Given the description of an element on the screen output the (x, y) to click on. 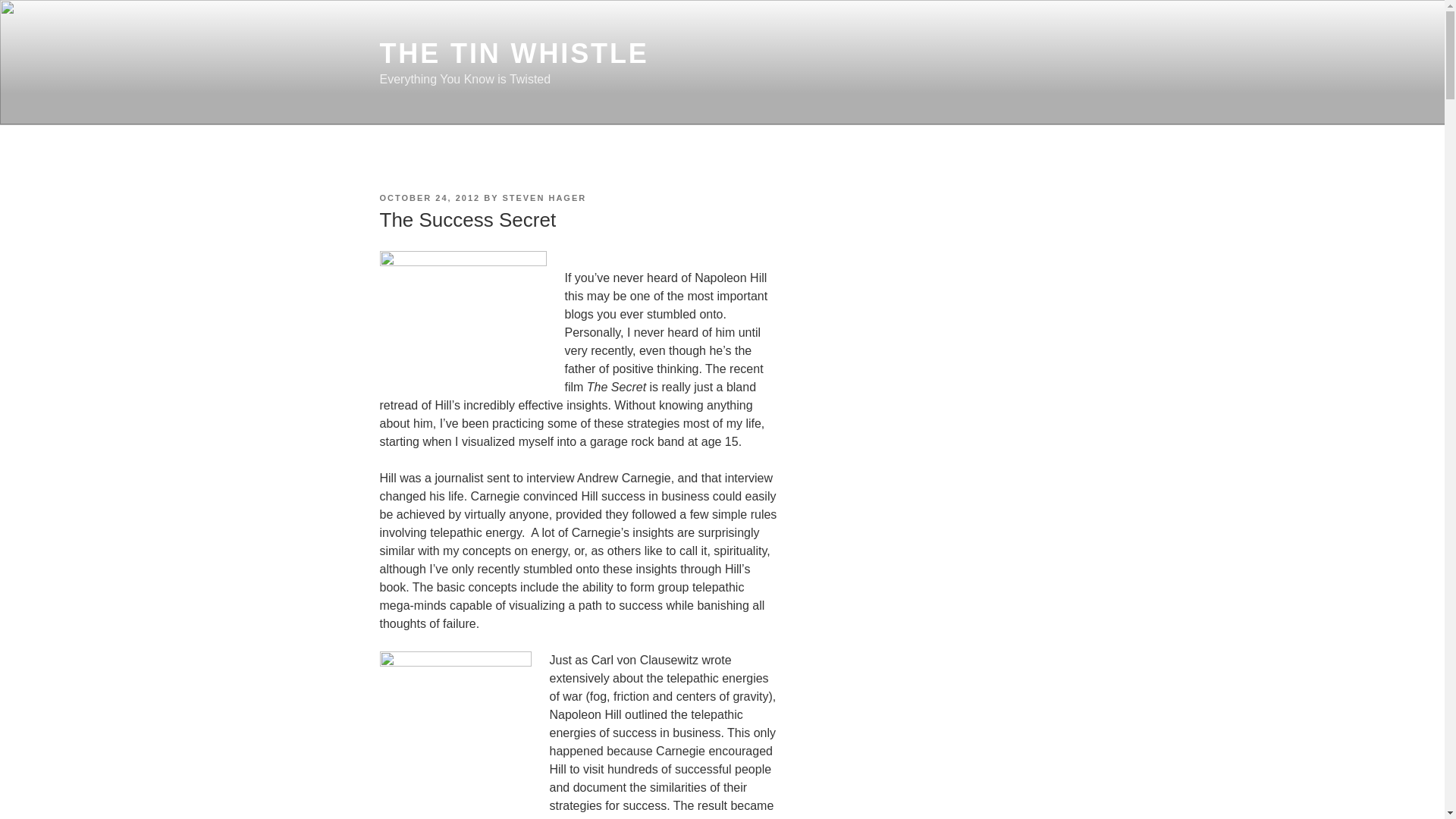
STEVEN HAGER (544, 197)
THE TIN WHISTLE (512, 52)
Everything You Know is Twisted (941, 651)
YouTube video player (941, 310)
OCTOBER 24, 2012 (429, 197)
